Given the description of an element on the screen output the (x, y) to click on. 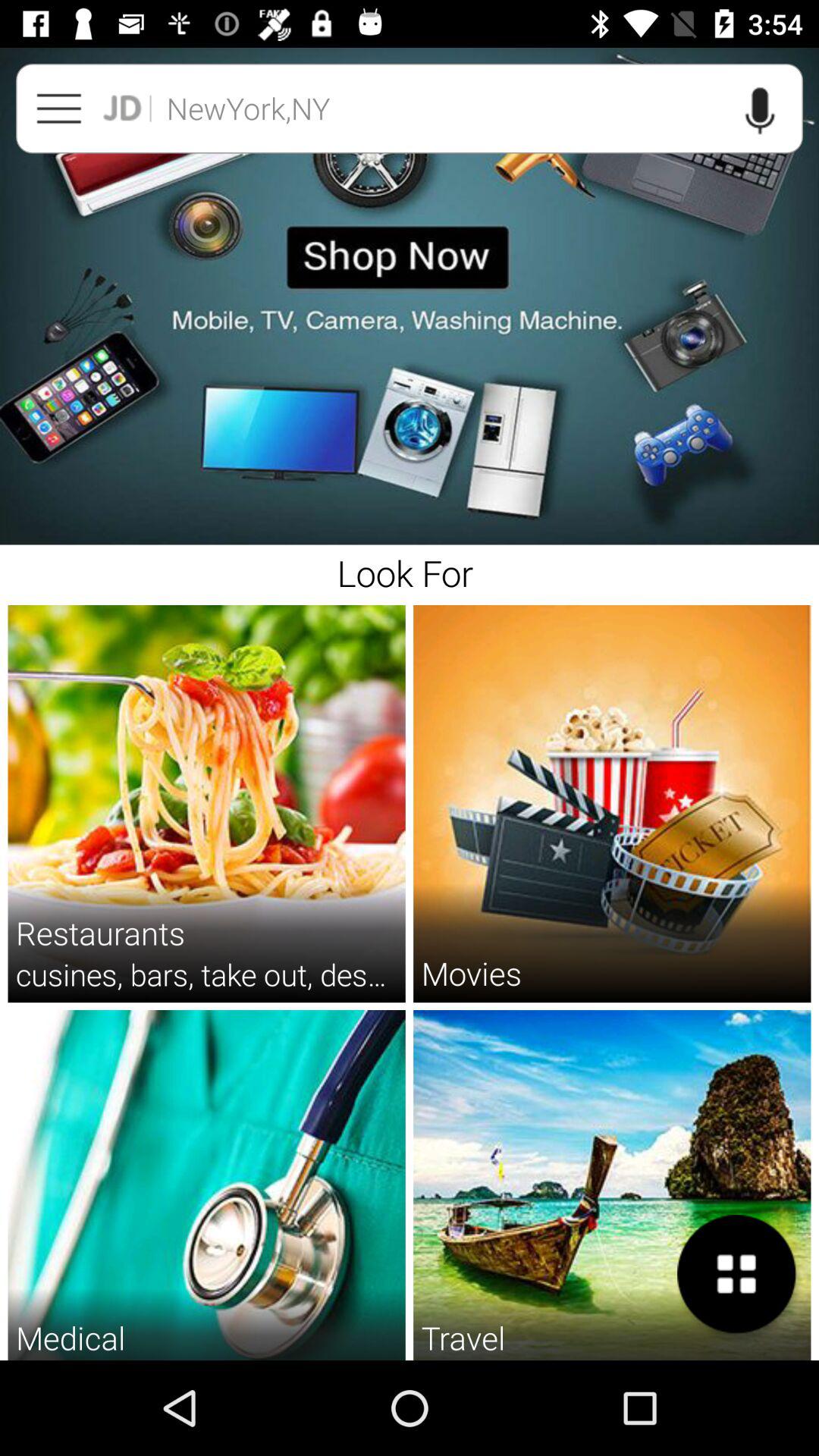
flip to doctors hospitals diagnostic item (206, 1359)
